Given the description of an element on the screen output the (x, y) to click on. 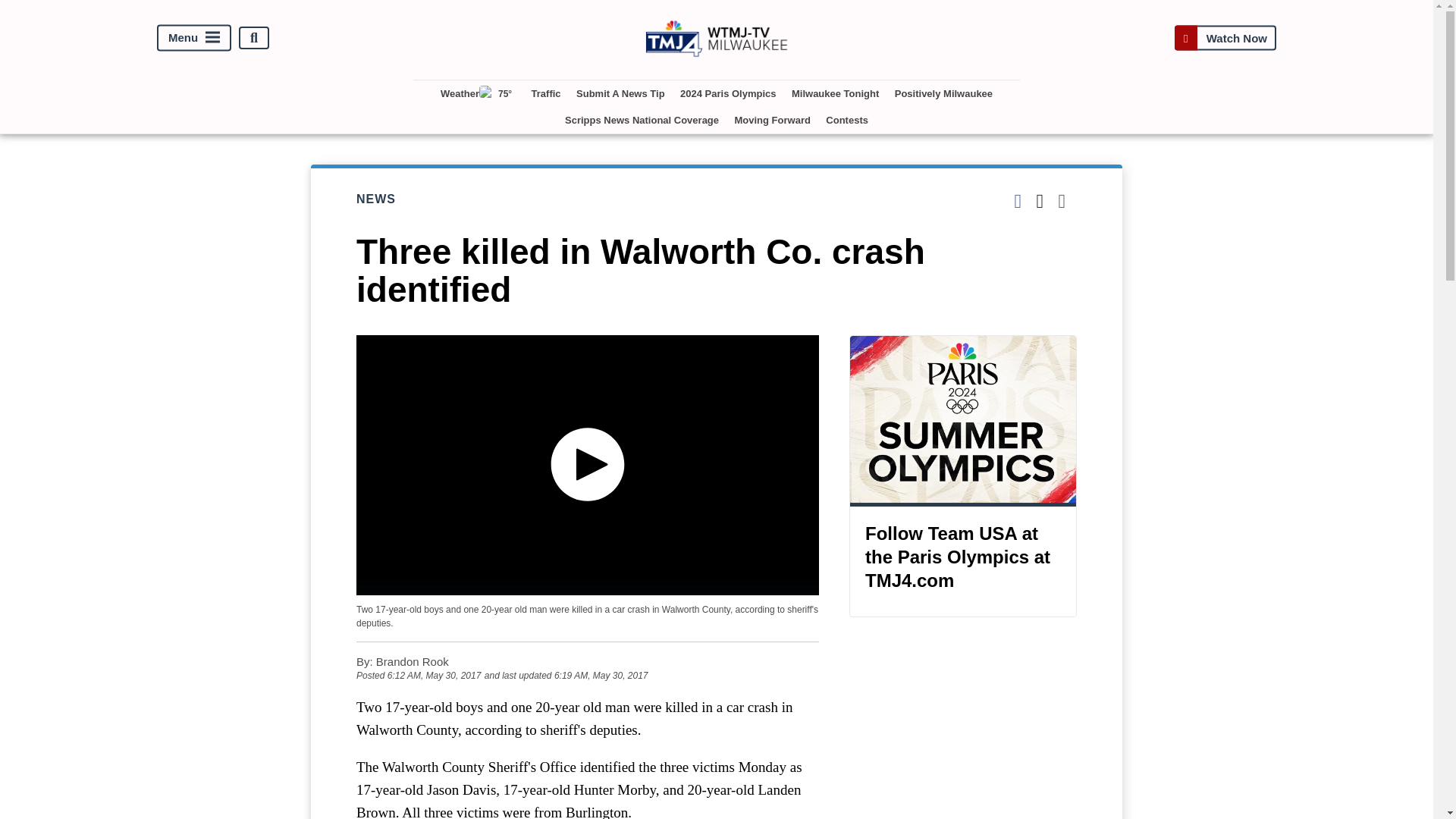
Watch Now (1224, 38)
Menu (194, 38)
